Given the description of an element on the screen output the (x, y) to click on. 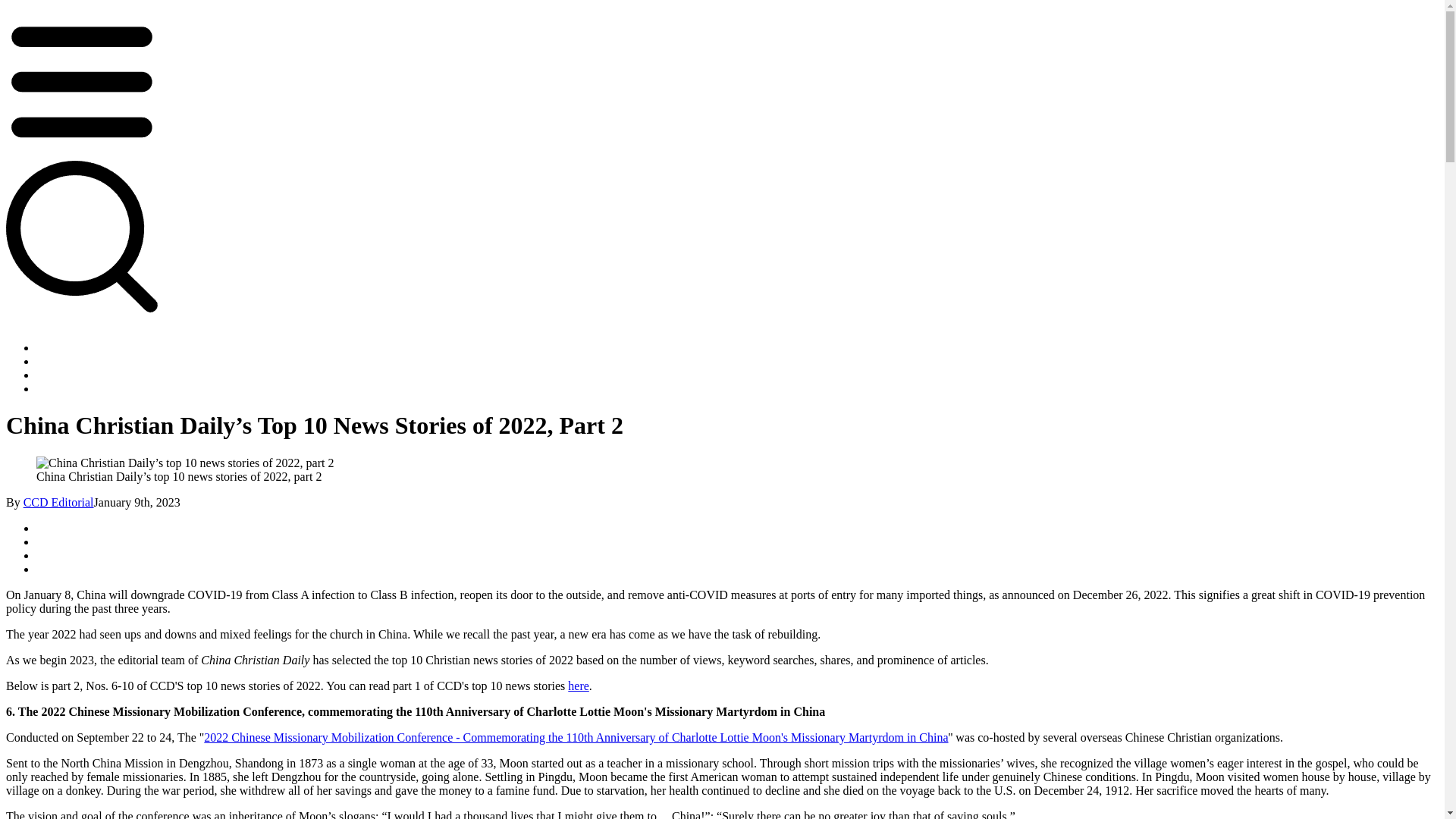
CCD Editorial (58, 502)
here (578, 685)
